Given the description of an element on the screen output the (x, y) to click on. 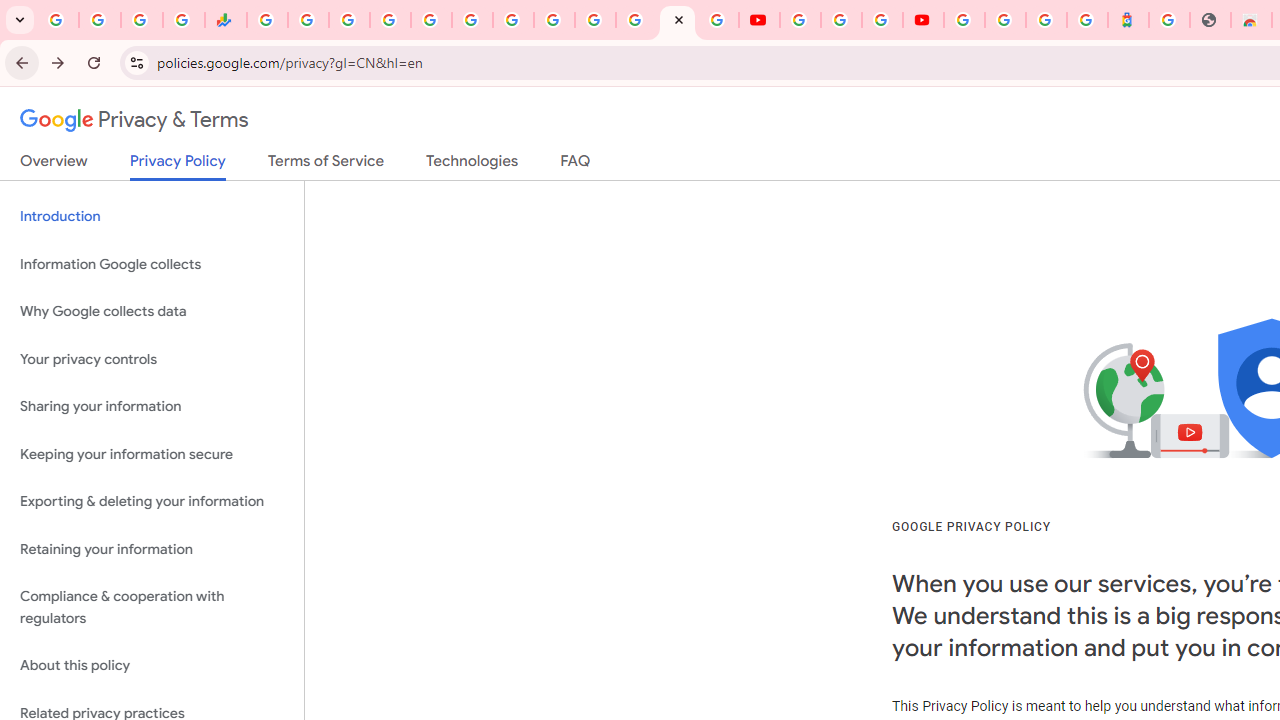
Sign in - Google Accounts (964, 20)
Keeping your information secure (152, 453)
Your privacy controls (152, 358)
Information Google collects (152, 263)
Compliance & cooperation with regulators (152, 607)
YouTube (799, 20)
Create your Google Account (881, 20)
Content Creator Programs & Opportunities - YouTube Creators (923, 20)
Why Google collects data (152, 312)
